Given the description of an element on the screen output the (x, y) to click on. 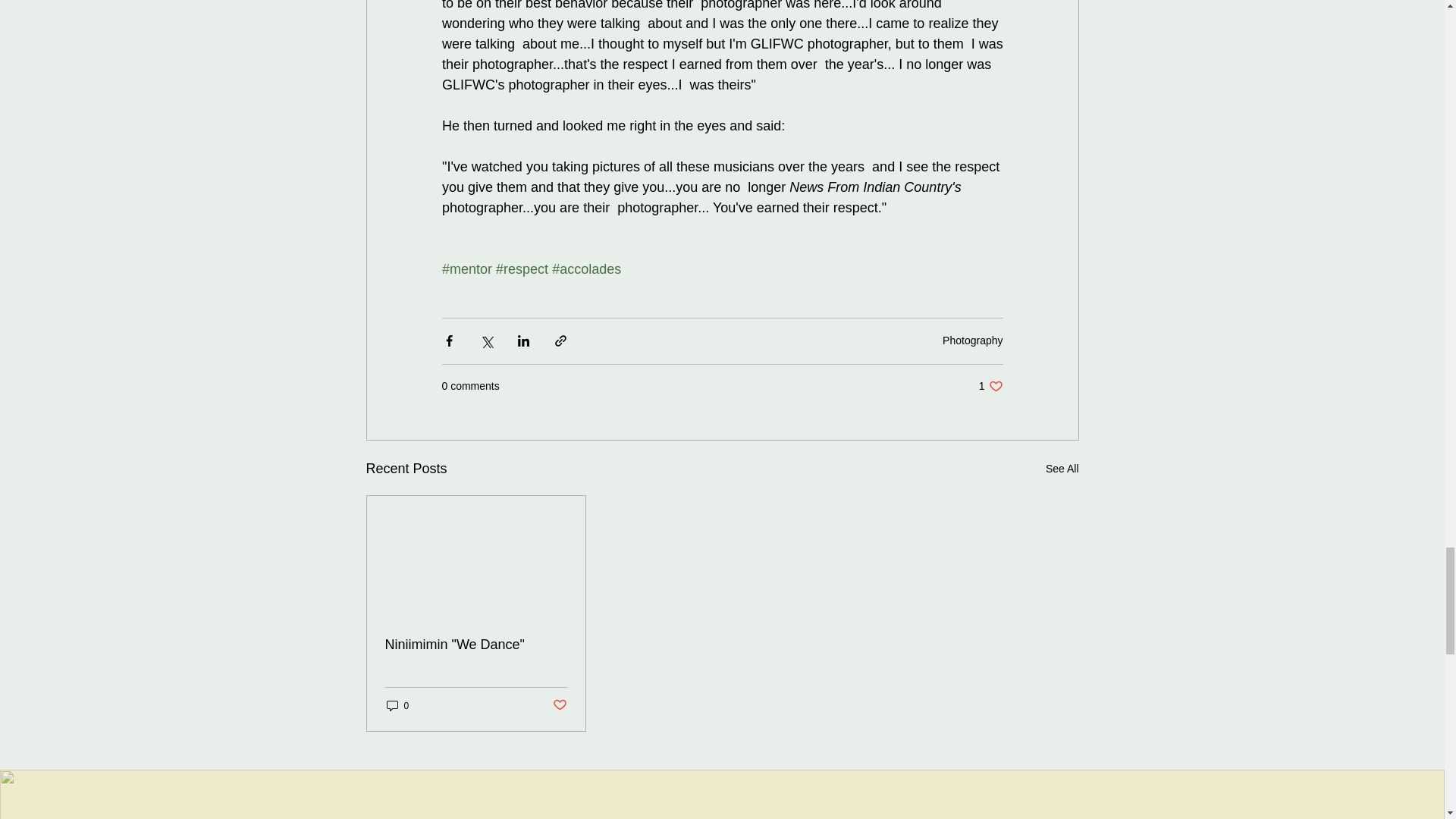
Post not marked as liked (558, 705)
Niniimimin "We Dance" (990, 386)
0 (476, 644)
Photography (397, 705)
See All (972, 340)
